Given the description of an element on the screen output the (x, y) to click on. 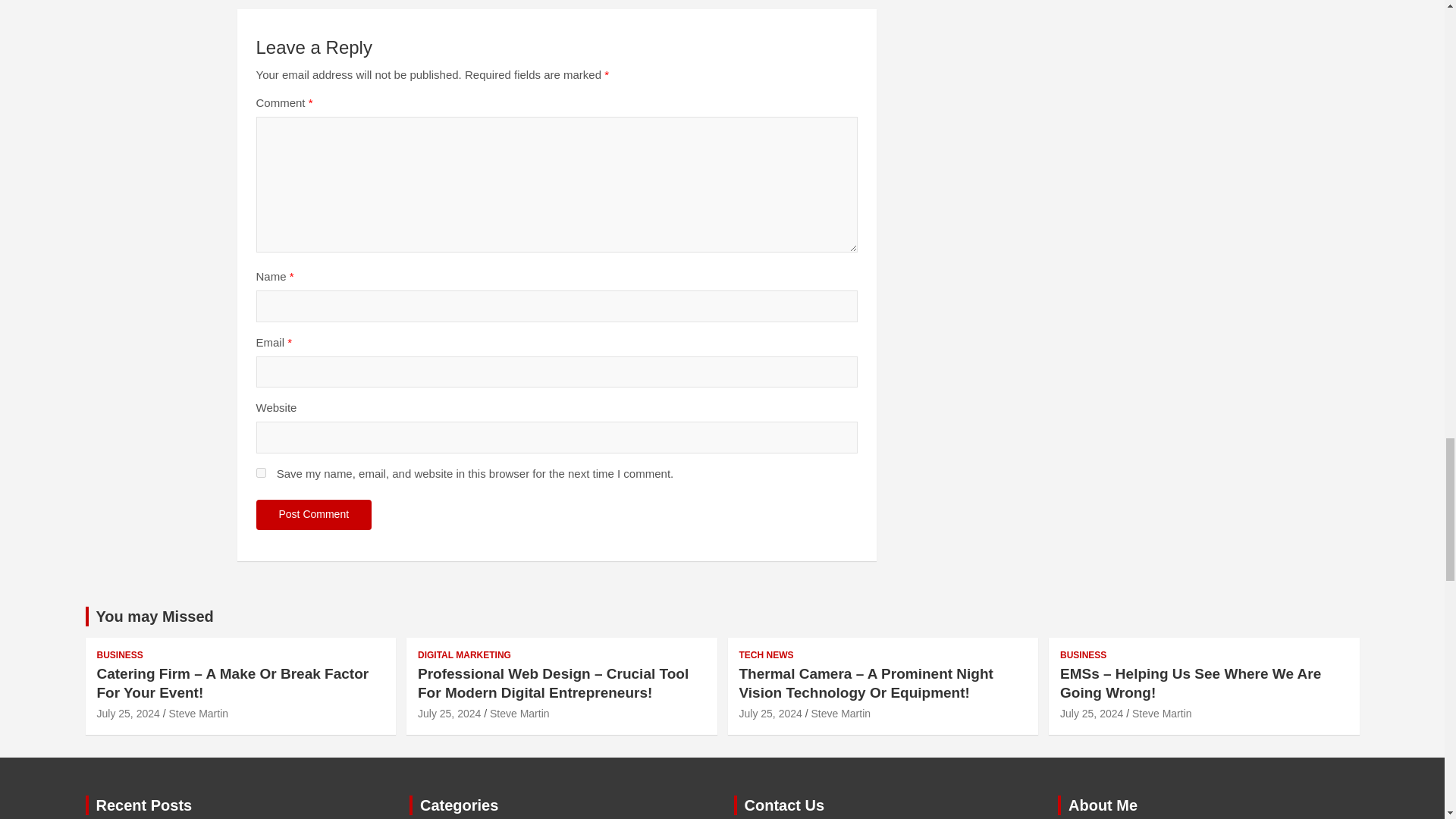
Post Comment (314, 514)
Post Comment (314, 514)
yes (261, 472)
